Given the description of an element on the screen output the (x, y) to click on. 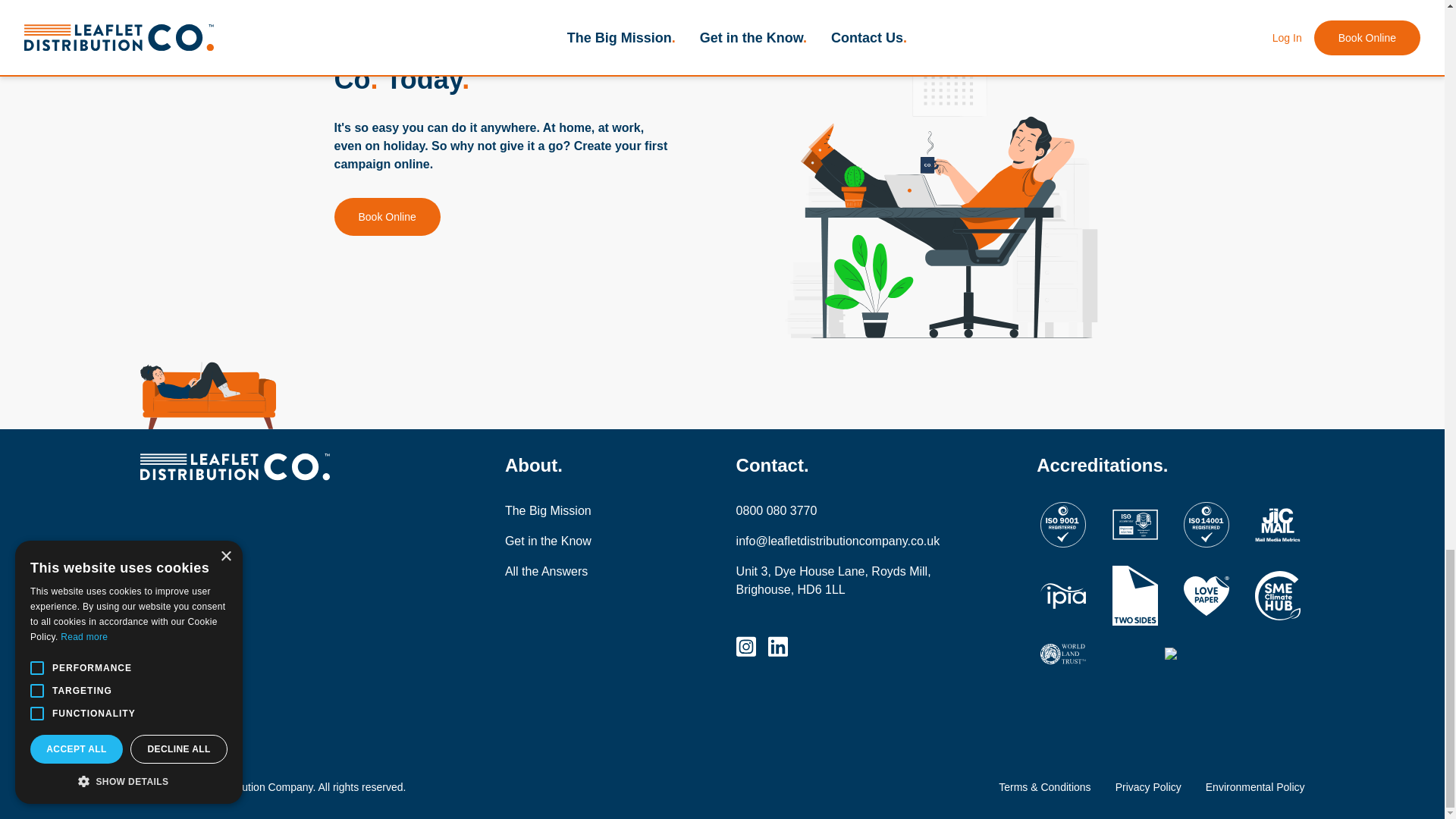
0800 080 3770 (838, 511)
Leaflet Distribution Company (273, 466)
Book Online (386, 216)
The Big Mission (572, 511)
The Big Mission (572, 511)
All the Answers (572, 571)
Get in the Know (572, 541)
